Given the description of an element on the screen output the (x, y) to click on. 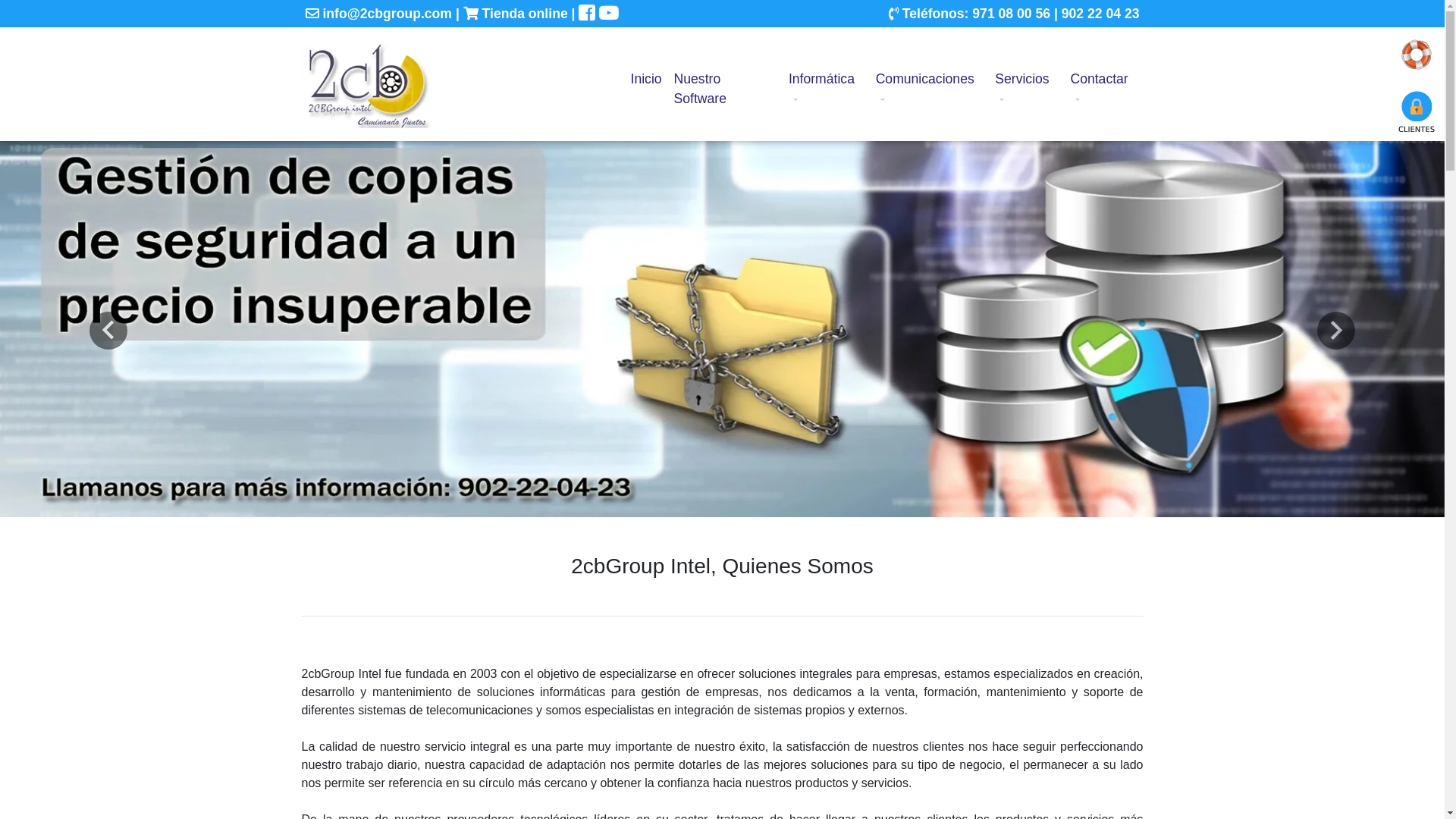
Servicios Element type: text (1025, 88)
Tienda online | Element type: text (521, 13)
Nuestro Software Element type: text (725, 88)
Comunicaciones Element type: text (929, 88)
Contactar Element type: text (1102, 88)
info@2cbgroup.com | Element type: text (383, 13)
Inicio
(current) Element type: text (646, 78)
